Given the description of an element on the screen output the (x, y) to click on. 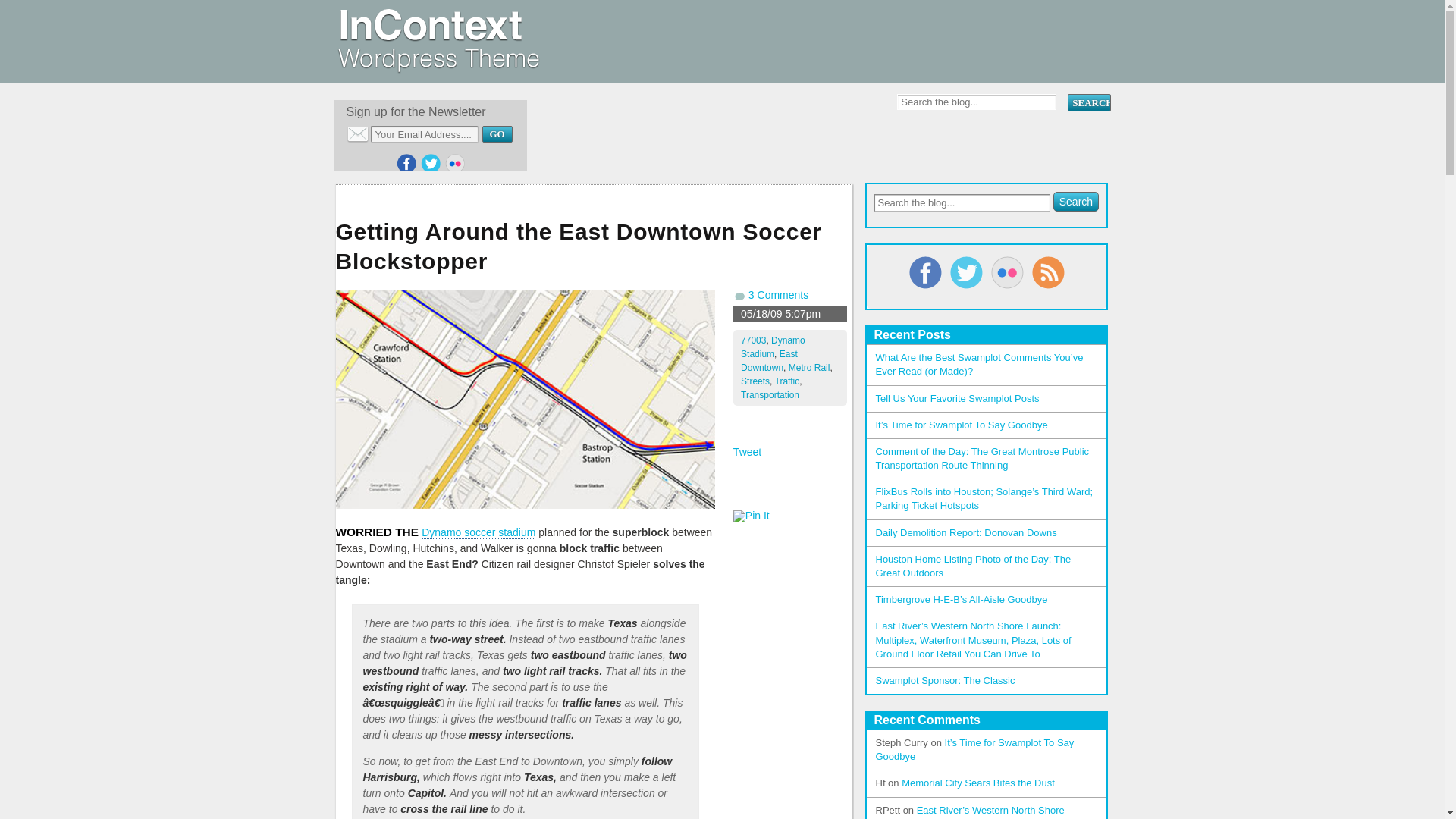
Swamplot (437, 67)
Dynamo Stadium (773, 346)
Like us on Facebook (406, 163)
Getting Around the East Downtown Soccer Blockstopper (592, 248)
Follow us on Twitter (430, 163)
GO (496, 134)
Streets (755, 380)
Tweet (747, 451)
See us on Flickr (454, 163)
GO (496, 134)
Search (1088, 102)
3 Comments (778, 295)
Metro Rail (809, 367)
East Downtown (769, 360)
Traffic (786, 380)
